Given the description of an element on the screen output the (x, y) to click on. 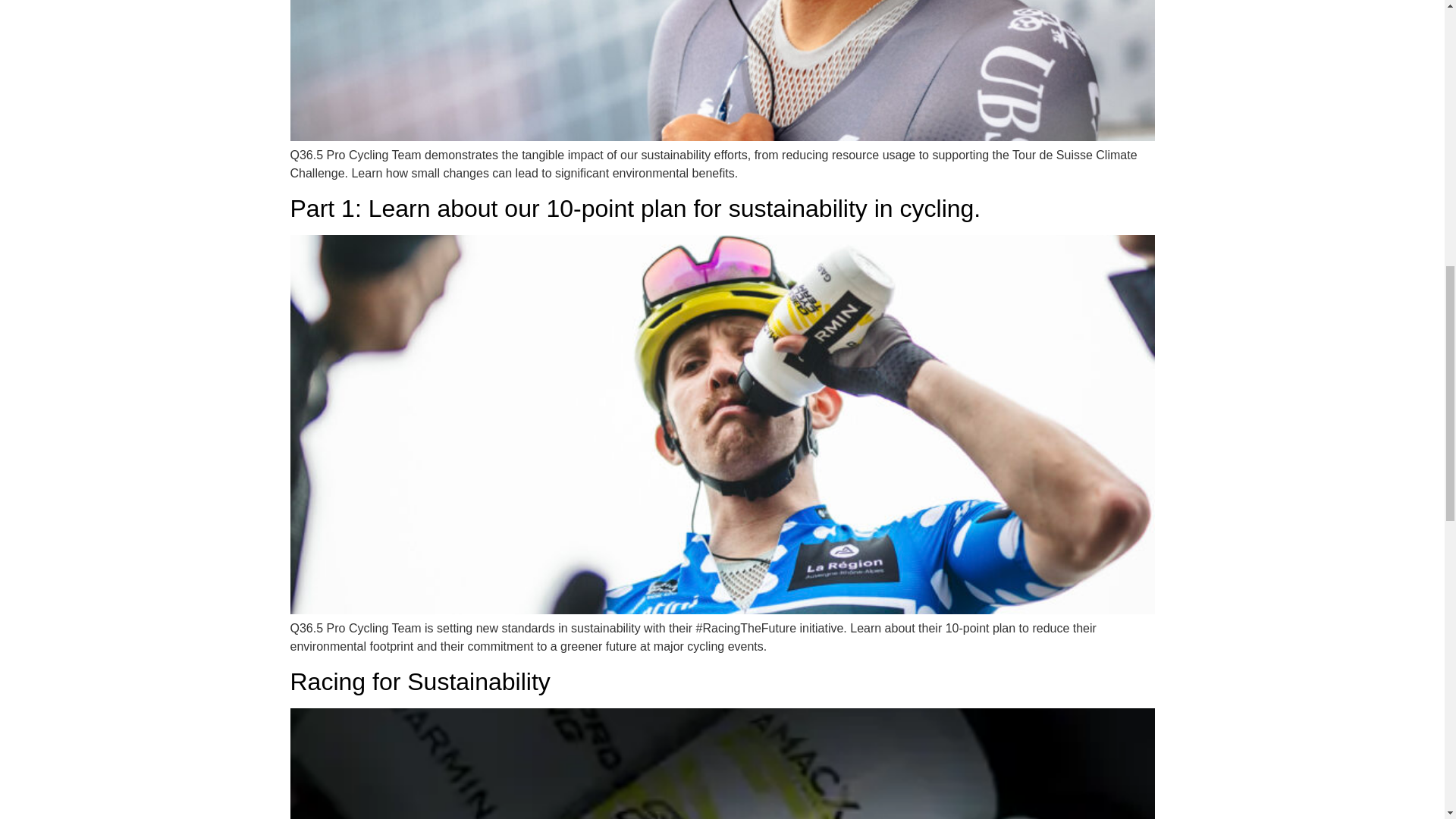
Racing for Sustainability (419, 681)
